Given the description of an element on the screen output the (x, y) to click on. 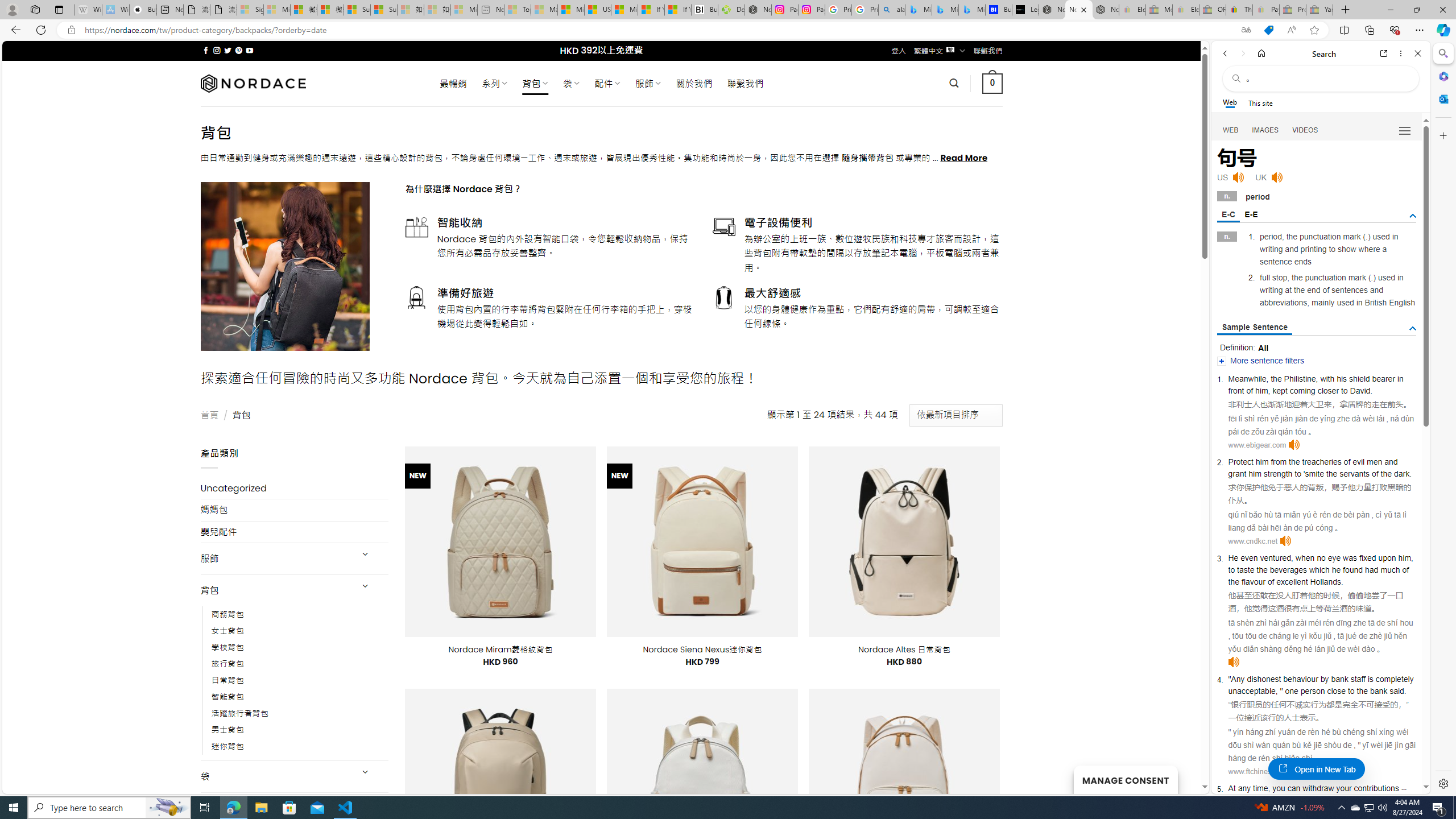
Read More (964, 157)
can (1293, 787)
Microsoft account | Account Checkup - Sleeping (463, 9)
Follow on Pinterest (237, 50)
www.ebigear.com (1257, 444)
n.period (1316, 195)
